Given the description of an element on the screen output the (x, y) to click on. 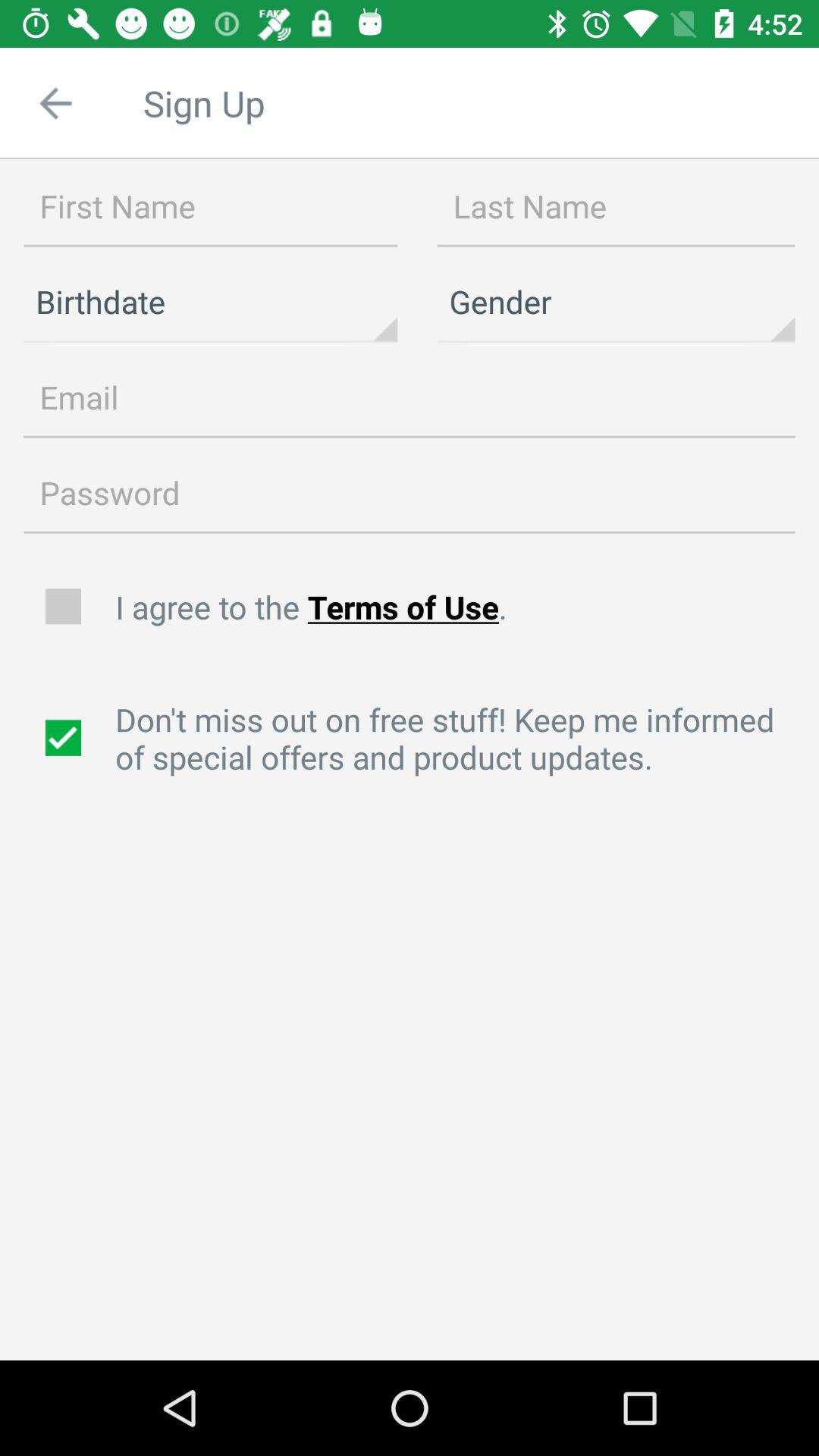
swipe to gender item (616, 302)
